Given the description of an element on the screen output the (x, y) to click on. 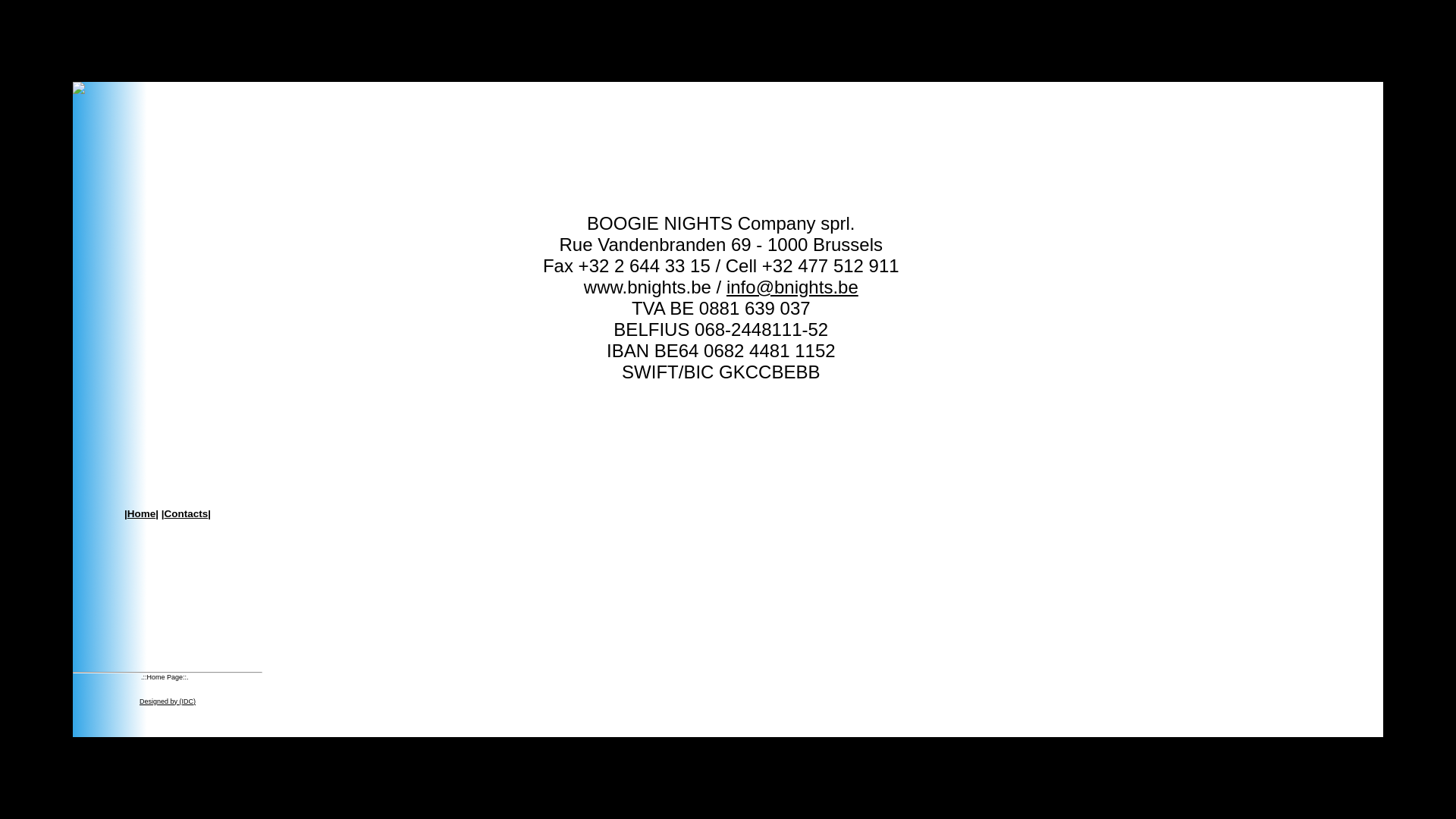
Contacts Element type: text (186, 513)
Home Element type: text (141, 513)
Designed by (IDC) Element type: text (167, 701)
info@bnights.be Element type: text (792, 286)
